Given the description of an element on the screen output the (x, y) to click on. 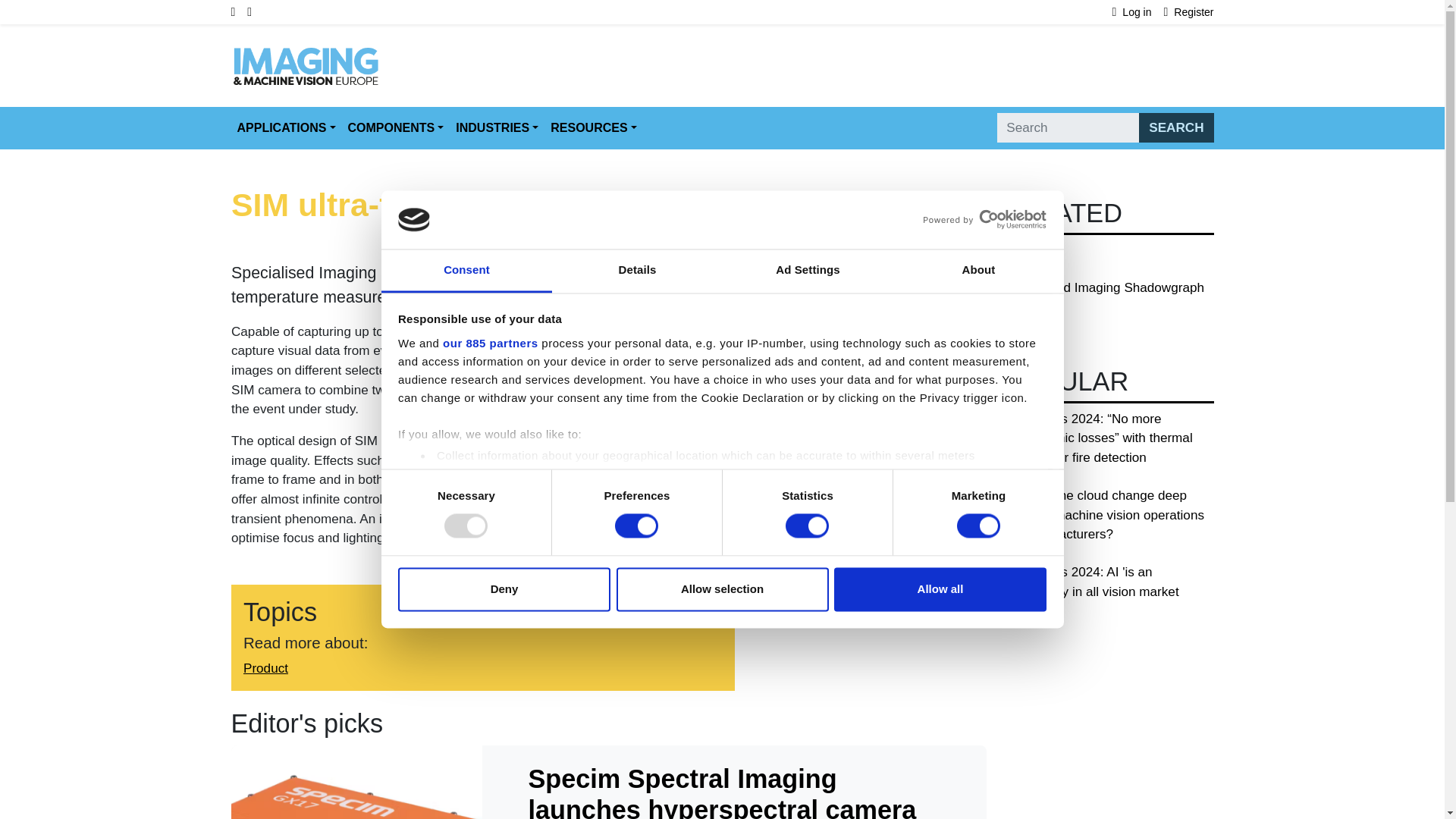
Ad Settings (807, 270)
Consent (465, 270)
About (978, 270)
details section (927, 494)
Details (636, 270)
our 885 partners (490, 342)
